Given the description of an element on the screen output the (x, y) to click on. 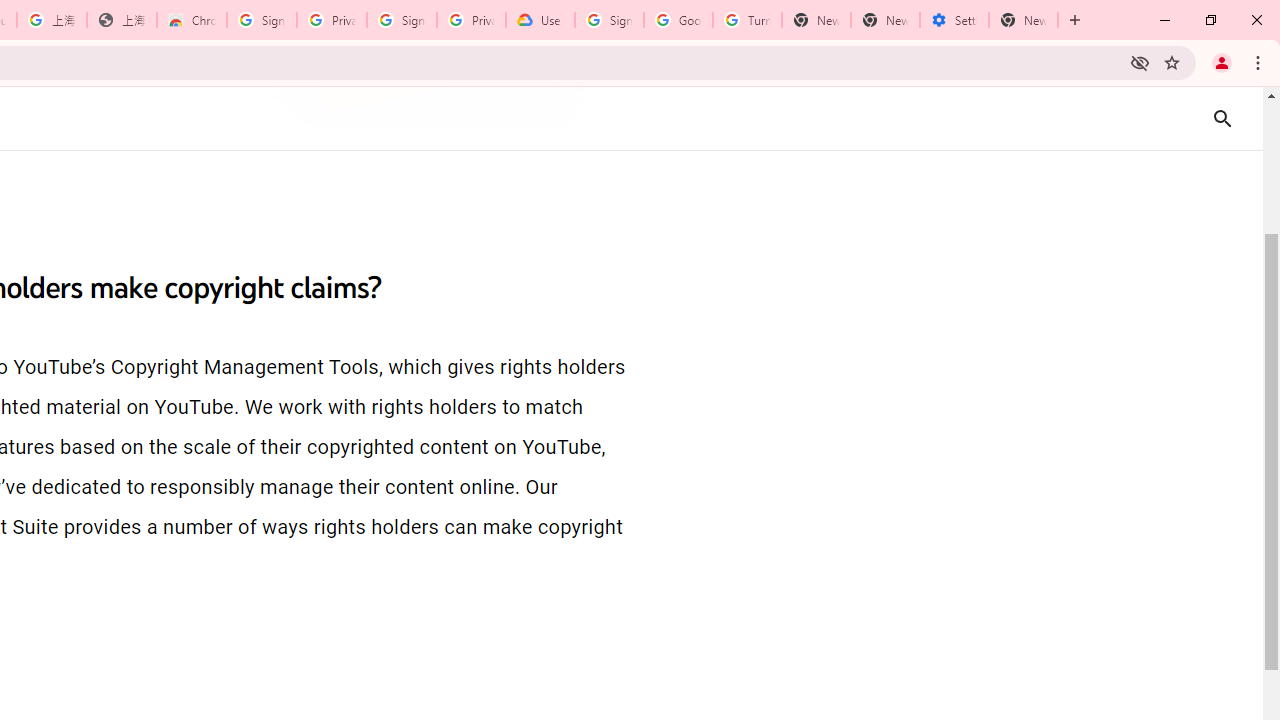
New Tab (1023, 20)
Google Account Help (677, 20)
Sign in - Google Accounts (608, 20)
Chrome Web Store - Color themes by Chrome (191, 20)
Sign in - Google Accounts (261, 20)
Turn cookies on or off - Computer - Google Account Help (747, 20)
